Given the description of an element on the screen output the (x, y) to click on. 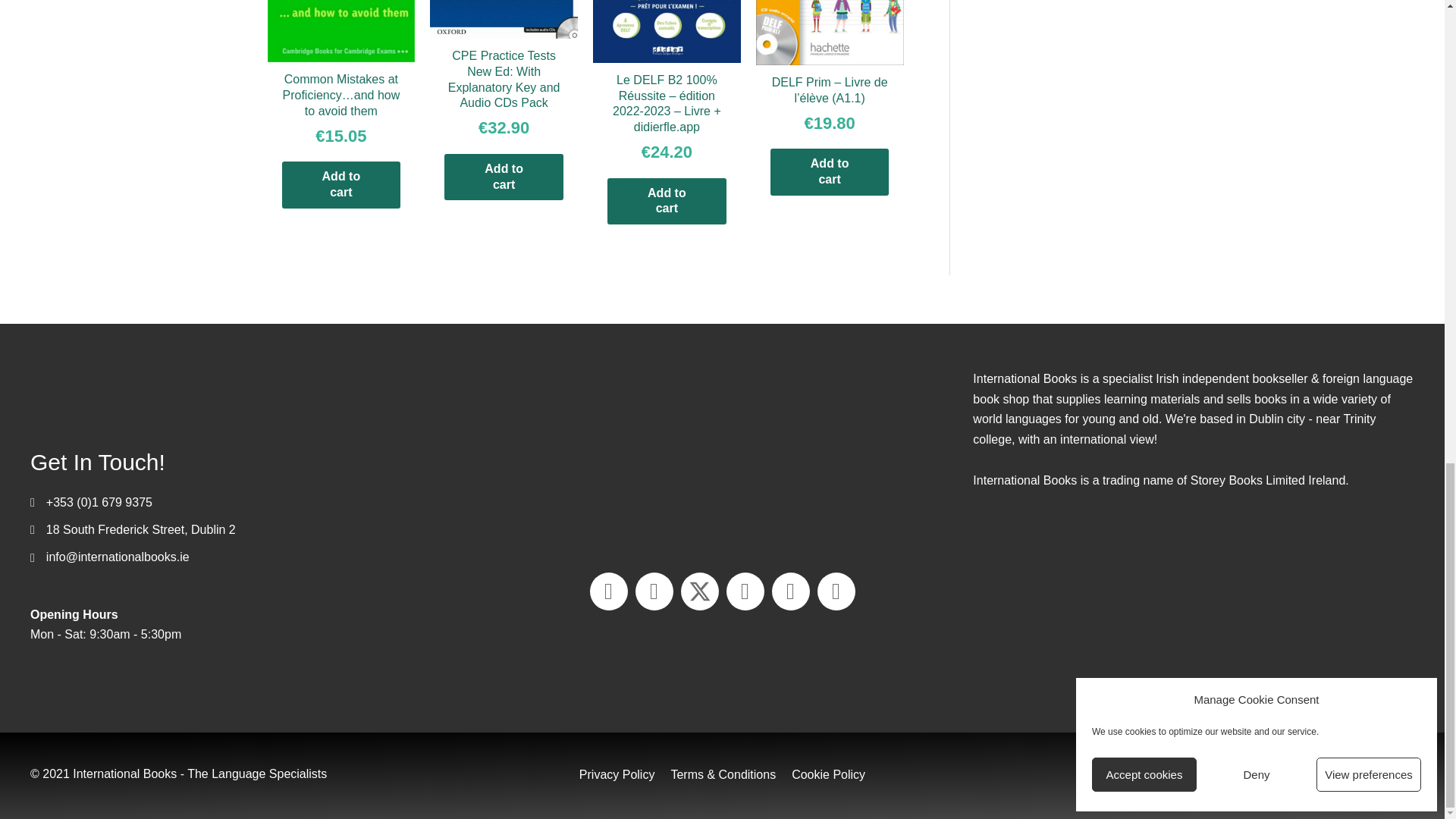
Website Design Galway (1293, 773)
logo-stripe-secure-payments-1 (722, 455)
logo-white (181, 392)
logo-leo (1193, 614)
Email (608, 591)
Facebook (653, 591)
TikTok (836, 591)
Instagram (790, 591)
